Given the description of an element on the screen output the (x, y) to click on. 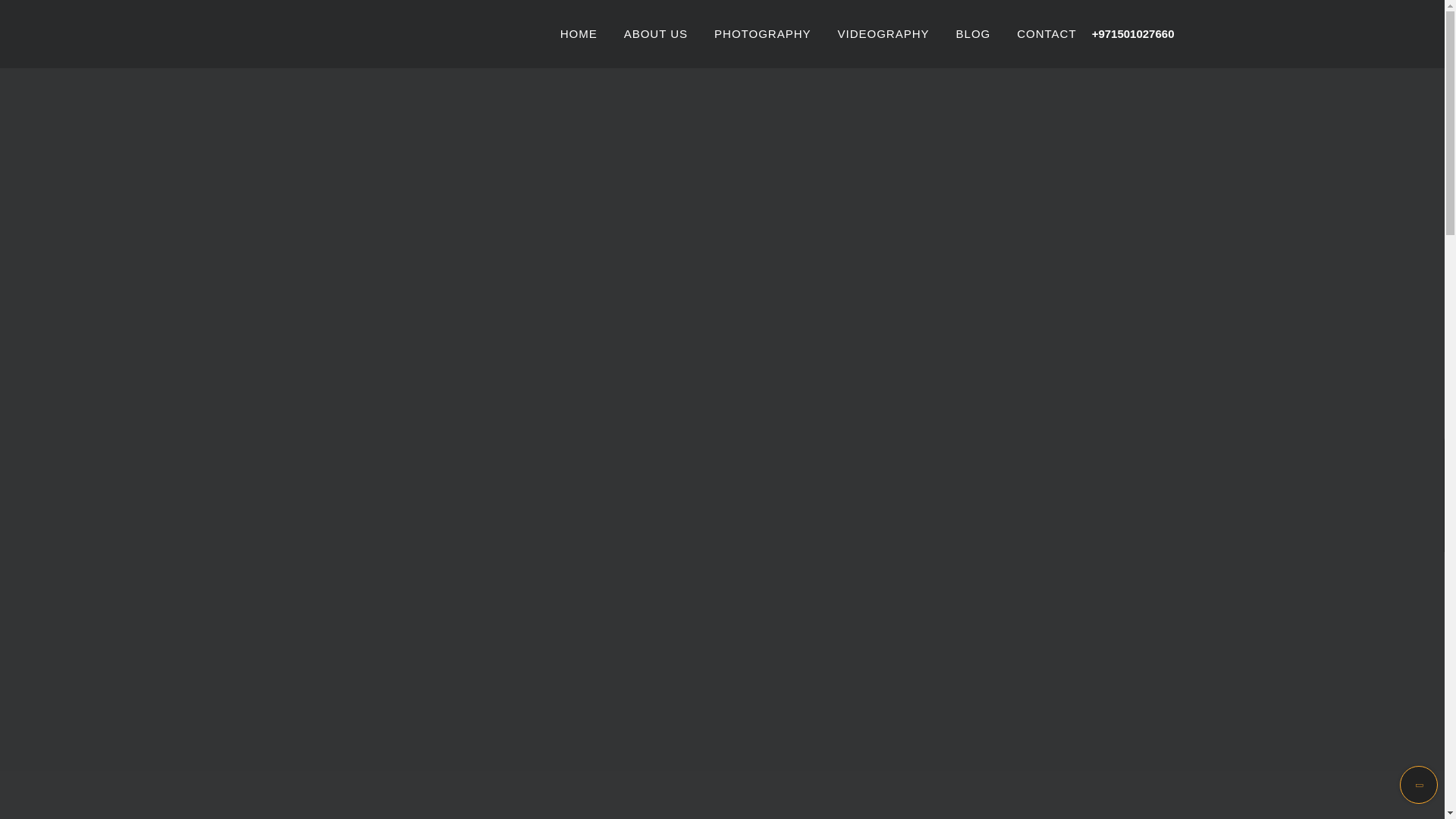
BLOG (973, 33)
VIDEOGRAPHY (884, 33)
ABOUT US (655, 33)
HOME (578, 33)
CONTACT (1045, 33)
PHOTOGRAPHY (762, 33)
